Given the description of an element on the screen output the (x, y) to click on. 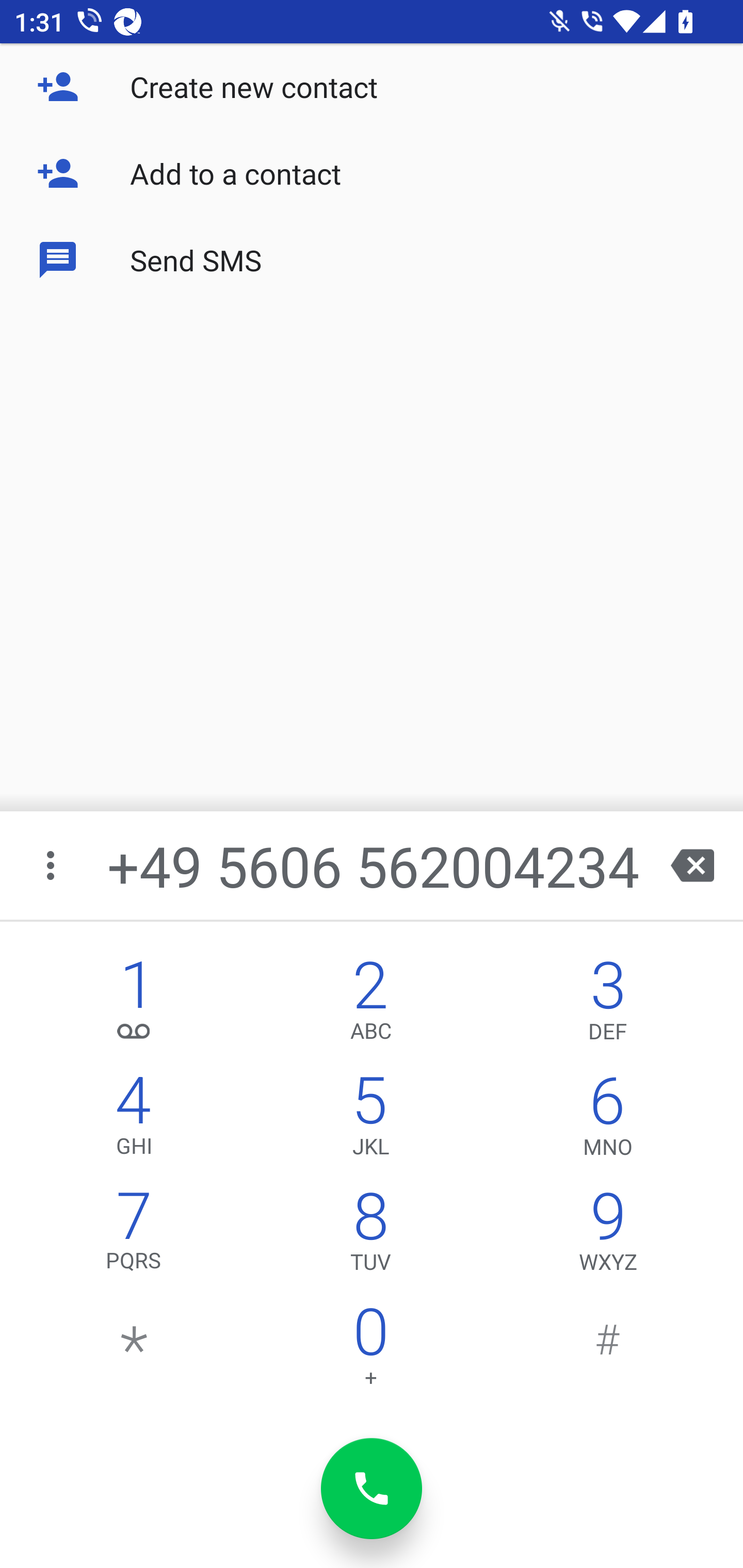
Create new contact (371, 86)
Add to a contact (371, 173)
Send SMS (371, 259)
+49 5606 562004234 (372, 865)
backspace (692, 865)
More options (52, 865)
1, 1 (133, 1005)
2,ABC 2 ABC (370, 1005)
3,DEF 3 DEF (607, 1005)
4,GHI 4 GHI (133, 1120)
5,JKL 5 JKL (370, 1120)
6,MNO 6 MNO (607, 1120)
7,PQRS 7 PQRS (133, 1235)
8,TUV 8 TUV (370, 1235)
9,WXYZ 9 WXYZ (607, 1235)
* (133, 1351)
0 0 + (370, 1351)
# (607, 1351)
dial (371, 1488)
